Given the description of an element on the screen output the (x, y) to click on. 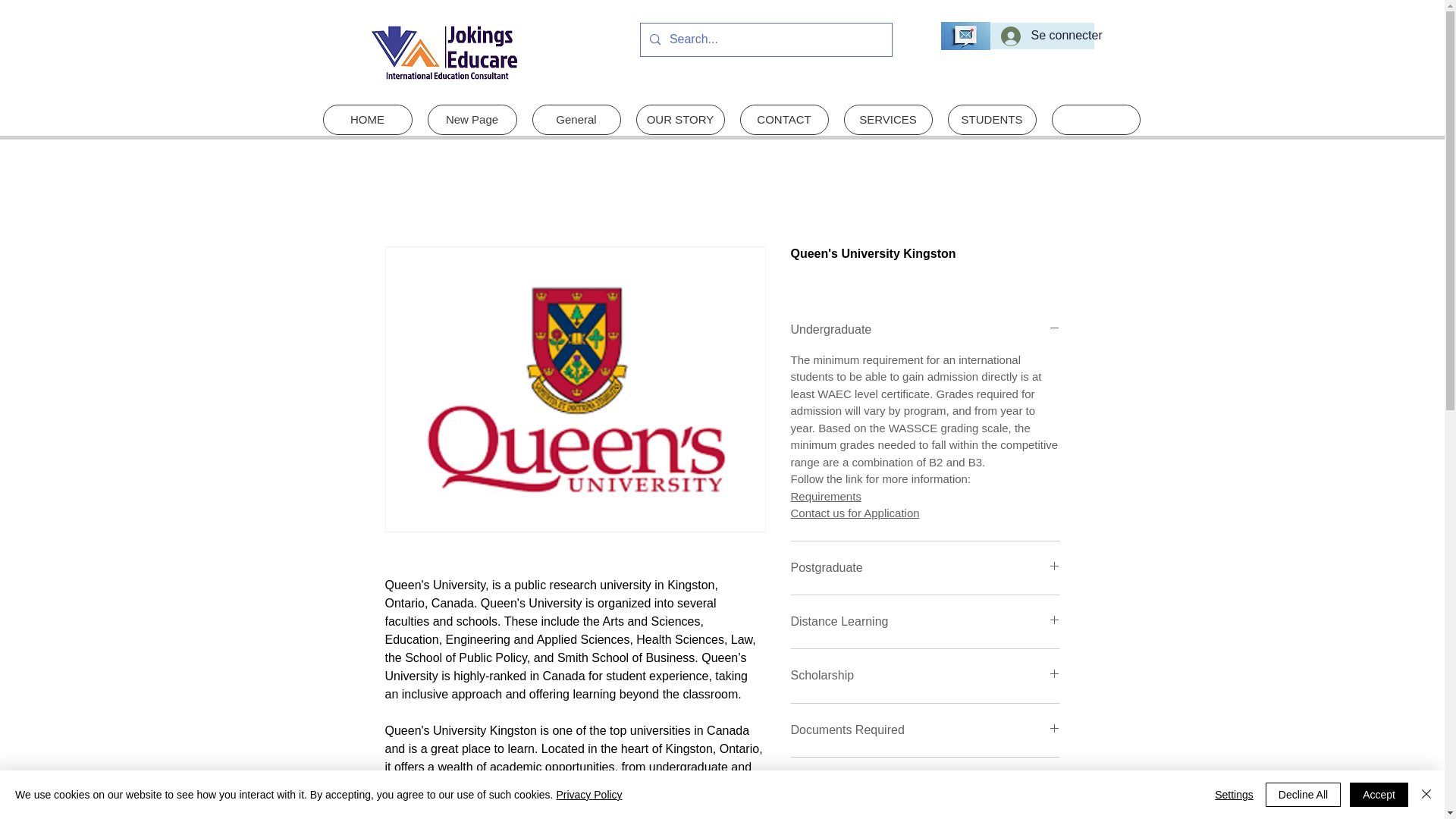
INVOICE Logo.jpg (443, 52)
SERVICES (887, 119)
STUDENTS (991, 119)
Se connecter (1042, 35)
CONTACT (783, 119)
General (576, 119)
HOME (367, 119)
OUR STORY (678, 119)
New Page (472, 119)
